Given the description of an element on the screen output the (x, y) to click on. 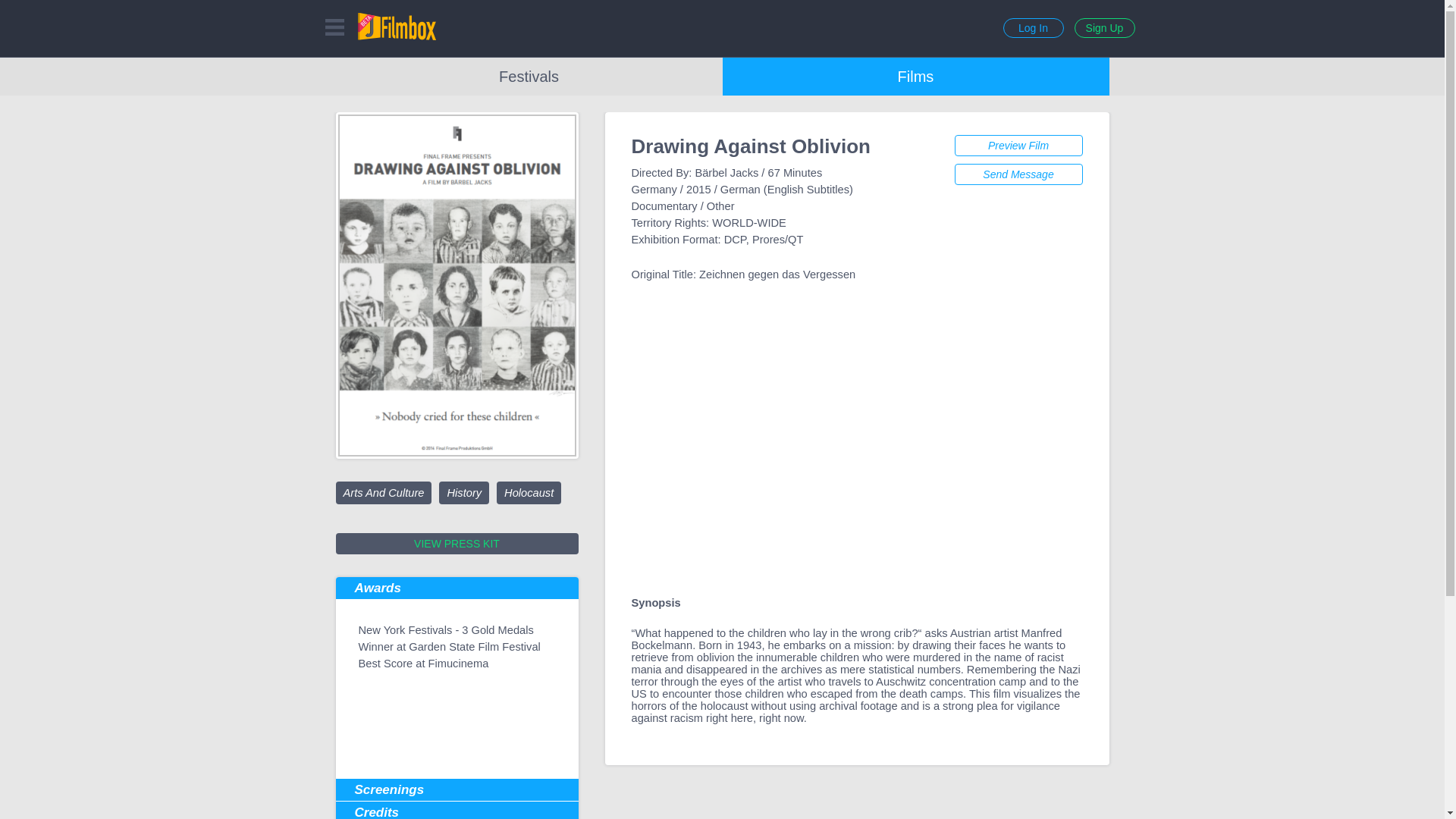
Holocaust (528, 492)
Arts And Culture (382, 492)
VIEW PRESS KIT (456, 543)
Preview Film (1017, 145)
Films (915, 76)
History (464, 492)
Festivals (528, 76)
JFilmBox (396, 26)
JFilmBox (396, 26)
Send Message (1017, 174)
